Given the description of an element on the screen output the (x, y) to click on. 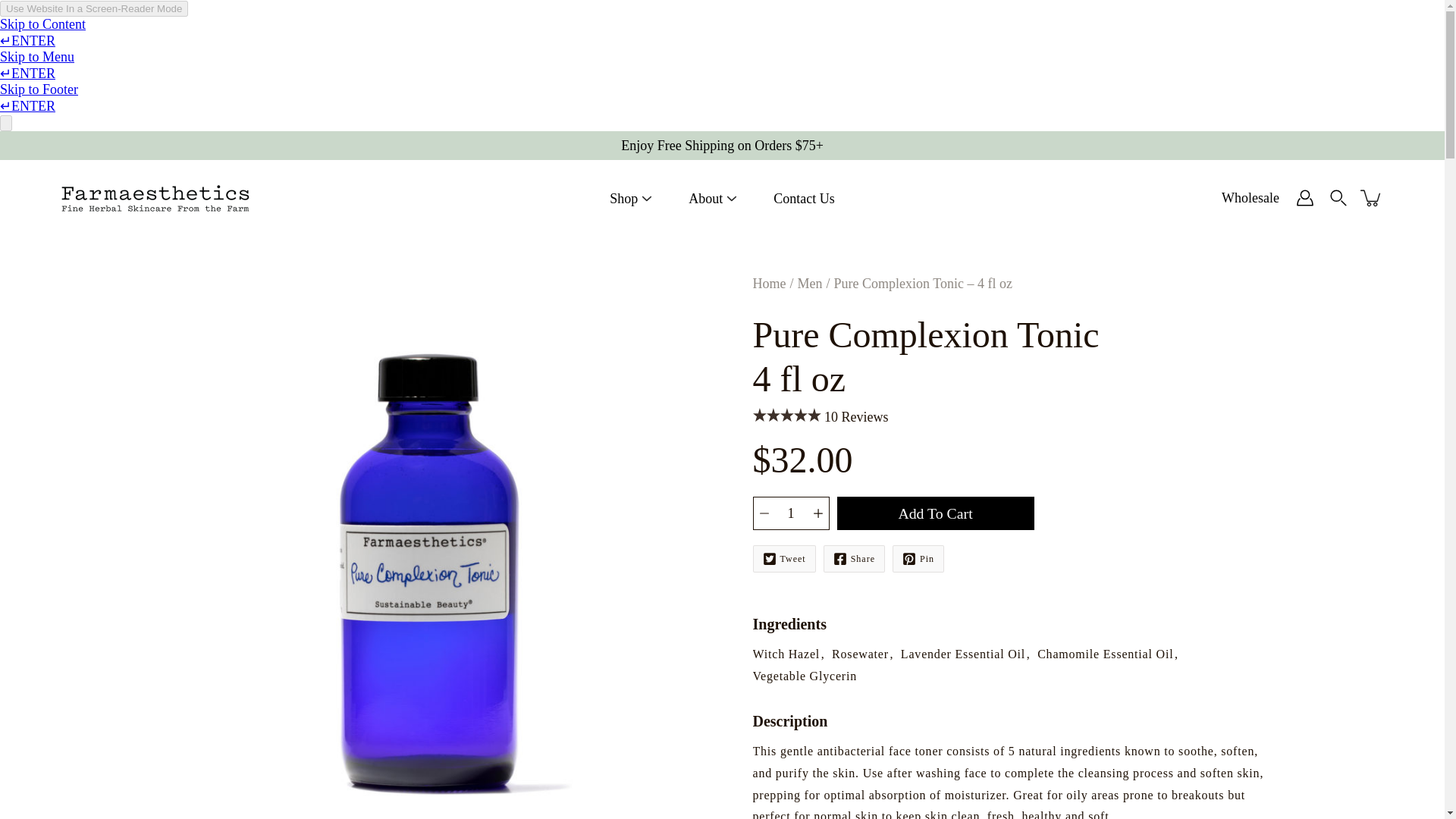
Average Product Rating is 5 out of 5  (786, 416)
Pinterest (917, 558)
Wholesale (1250, 197)
1 (790, 512)
10 Reviews (856, 417)
Twitter (783, 558)
Shop (623, 198)
Contact Us (803, 198)
About (705, 198)
Facebook (854, 558)
Back to the Homepage (769, 283)
